Given the description of an element on the screen output the (x, y) to click on. 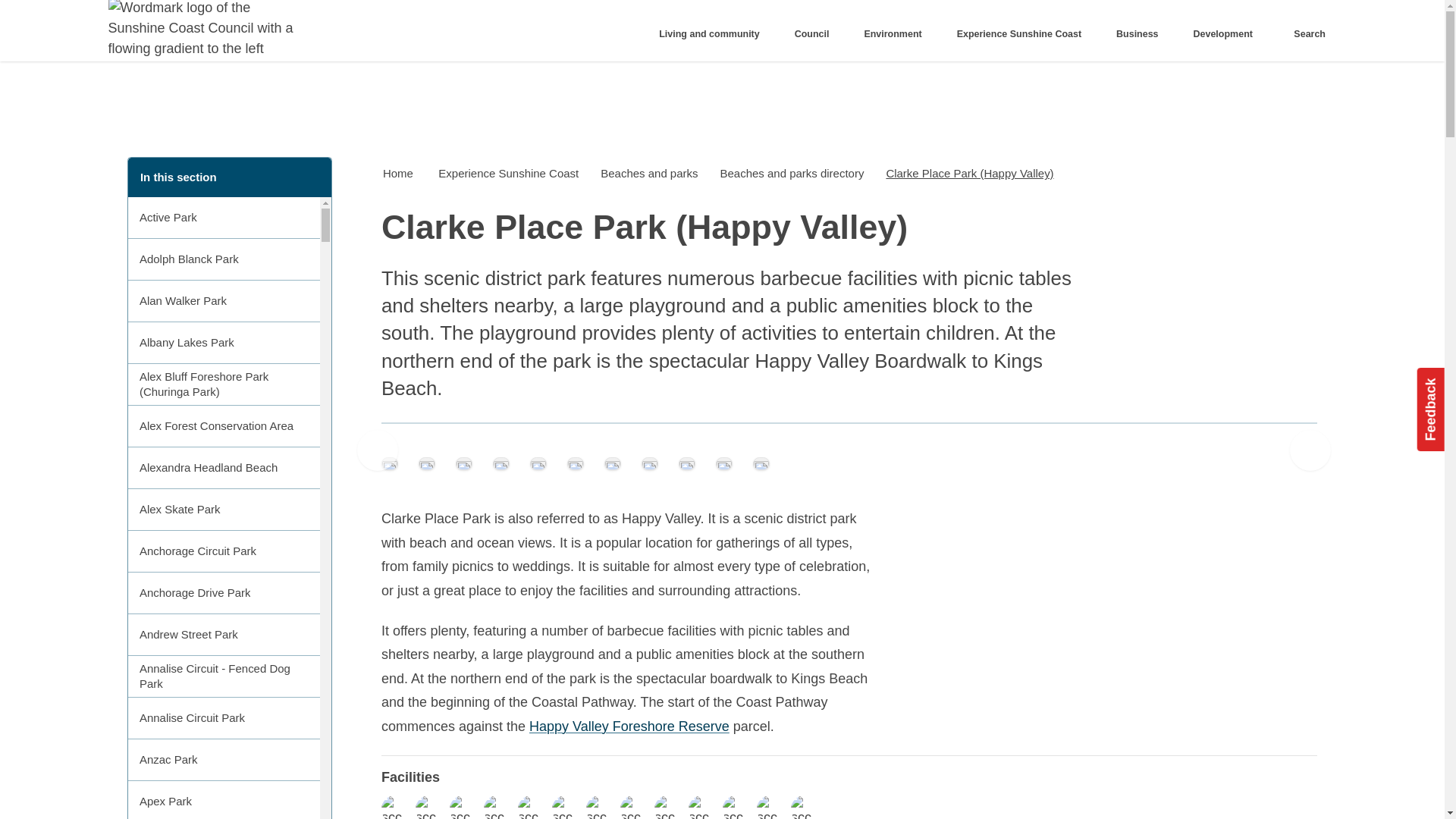
Council (815, 34)
Development (1227, 34)
Business (1142, 34)
Business (1142, 34)
Experience Sunshine Coast (1023, 34)
Environment (897, 34)
Living and community (713, 34)
Living and community (713, 34)
Experience Sunshine Coast (1023, 34)
Environment (897, 34)
Sunshine Coast Council (202, 30)
Development (1227, 34)
Search Sunshine Coast Council website (1306, 34)
Search (1306, 34)
Council (815, 34)
